Given the description of an element on the screen output the (x, y) to click on. 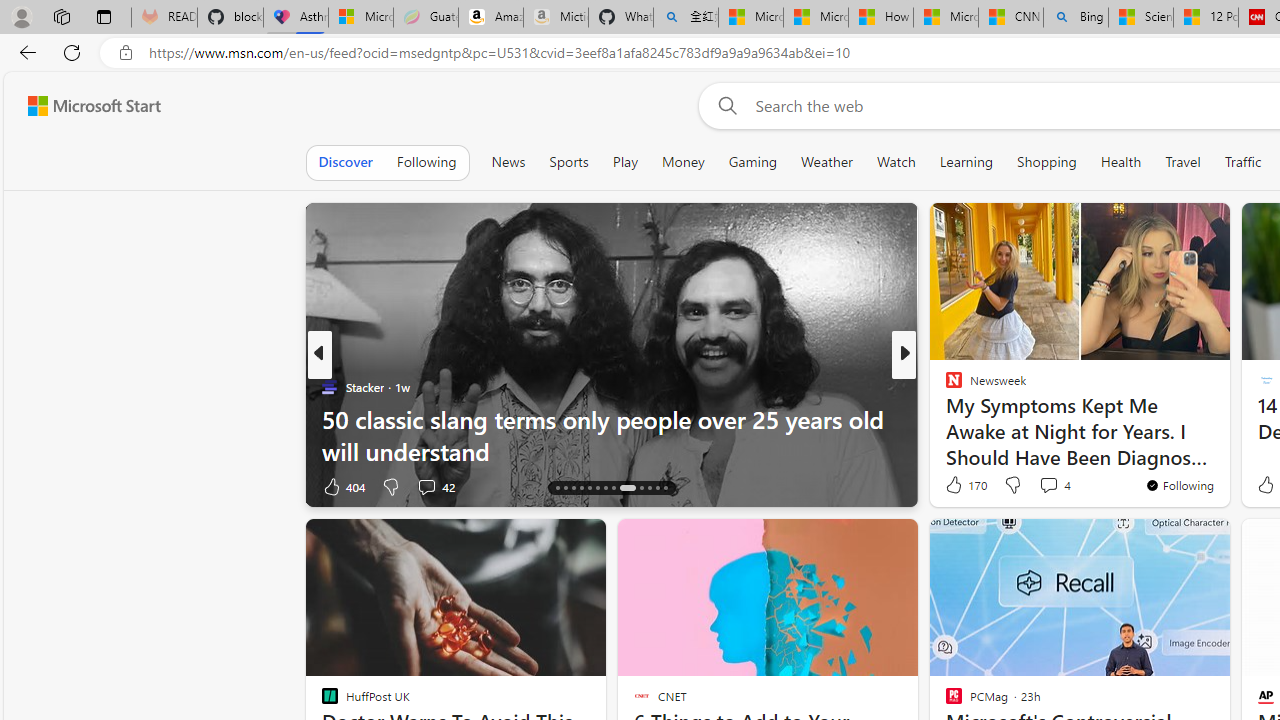
View comments 42 Comment (435, 486)
TODAY (944, 386)
AutomationID: tab-17 (581, 487)
AutomationID: tab-15 (564, 487)
AutomationID: tab-18 (588, 487)
View comments 34 Comment (1042, 485)
170 Like (964, 484)
